Given the description of an element on the screen output the (x, y) to click on. 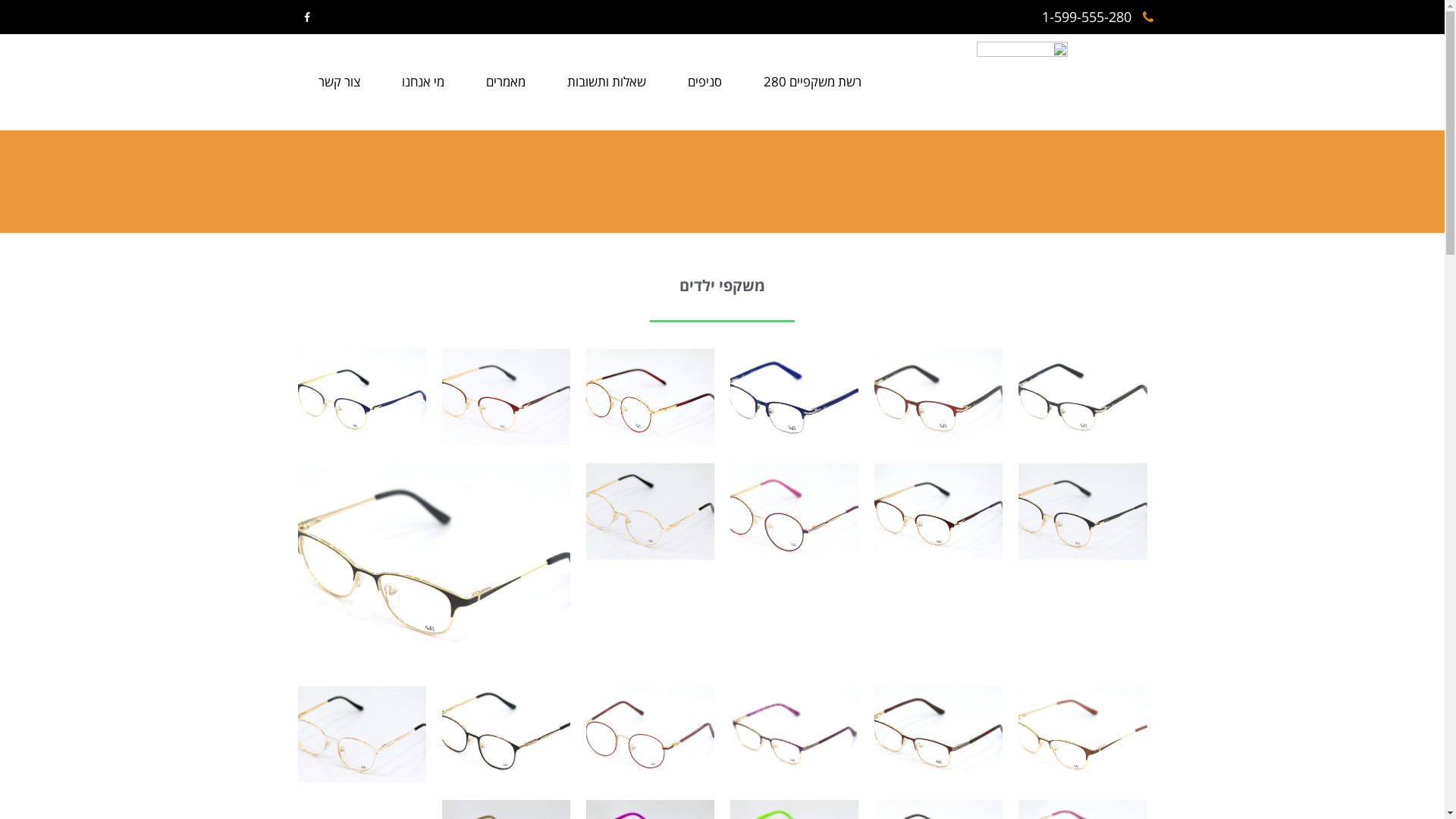
1-599-555-280 Element type: text (1097, 16)
